Given the description of an element on the screen output the (x, y) to click on. 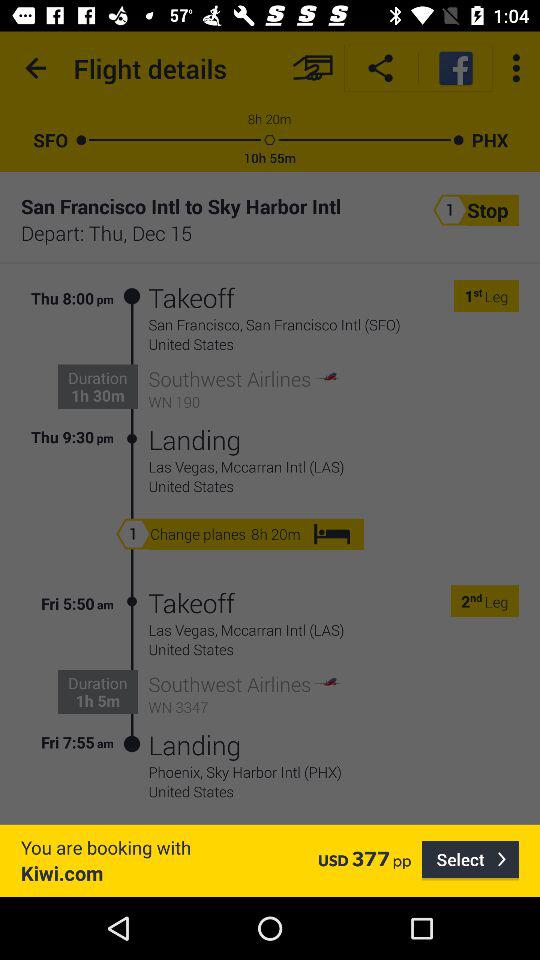
click the item to the left of the flight details (36, 68)
